Given the description of an element on the screen output the (x, y) to click on. 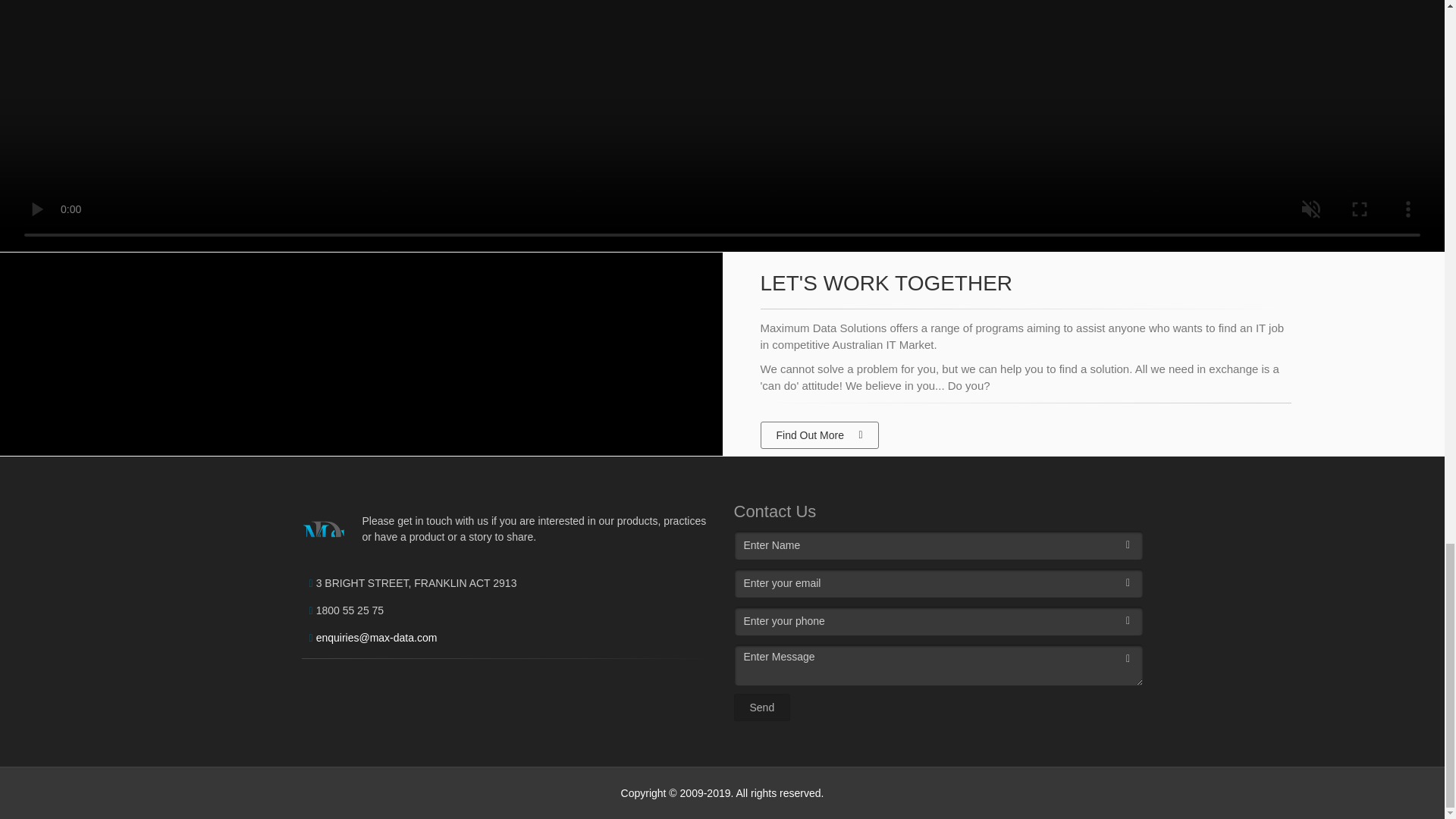
Send (761, 707)
Find Out More (818, 435)
Send (761, 707)
